Given the description of an element on the screen output the (x, y) to click on. 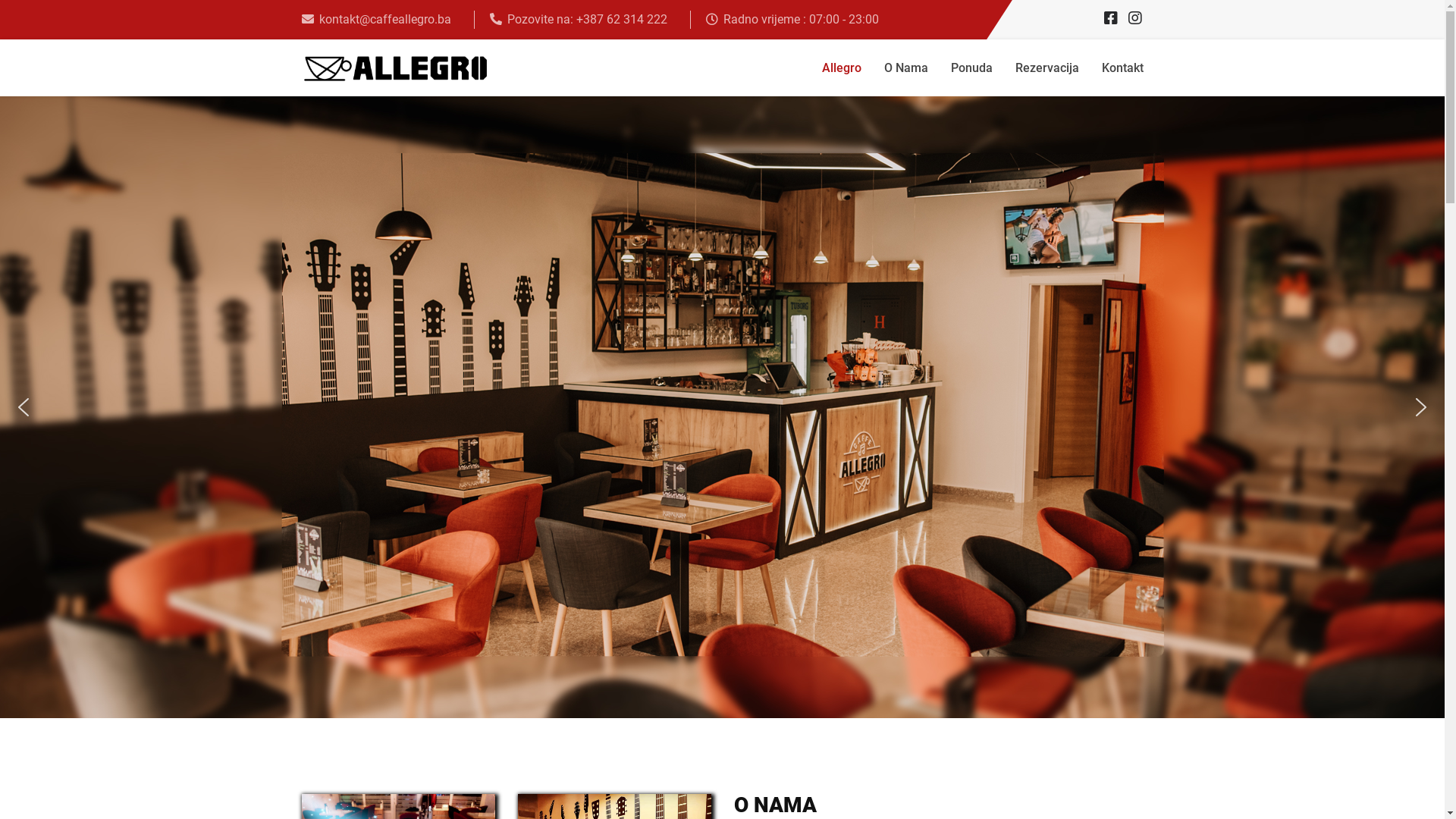
kontakt@caffeallegro.ba Element type: text (384, 19)
O Nama Element type: text (905, 67)
Rezervacija Element type: text (1047, 67)
Ponuda Element type: text (970, 67)
Pozovite na: +387 62 314 222 Element type: text (586, 19)
Kontakt Element type: text (1122, 67)
Allegro Element type: text (840, 67)
